Given the description of an element on the screen output the (x, y) to click on. 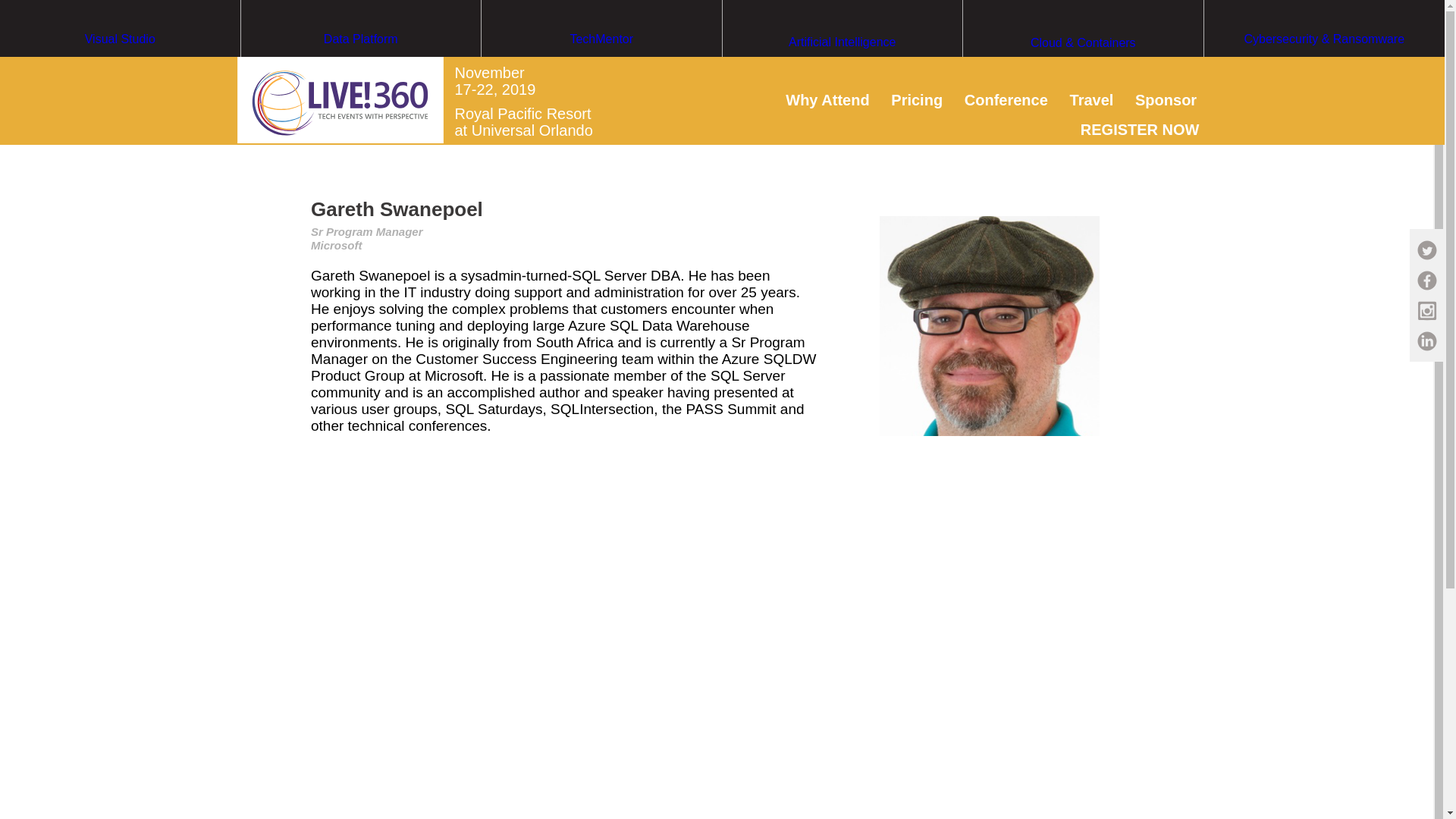
Data Platform (361, 67)
Why Attend (827, 99)
Visual Studio (120, 67)
Conference (1005, 99)
Pricing (916, 99)
Artificial Intelligence (842, 70)
TechMentor (601, 67)
